Given the description of an element on the screen output the (x, y) to click on. 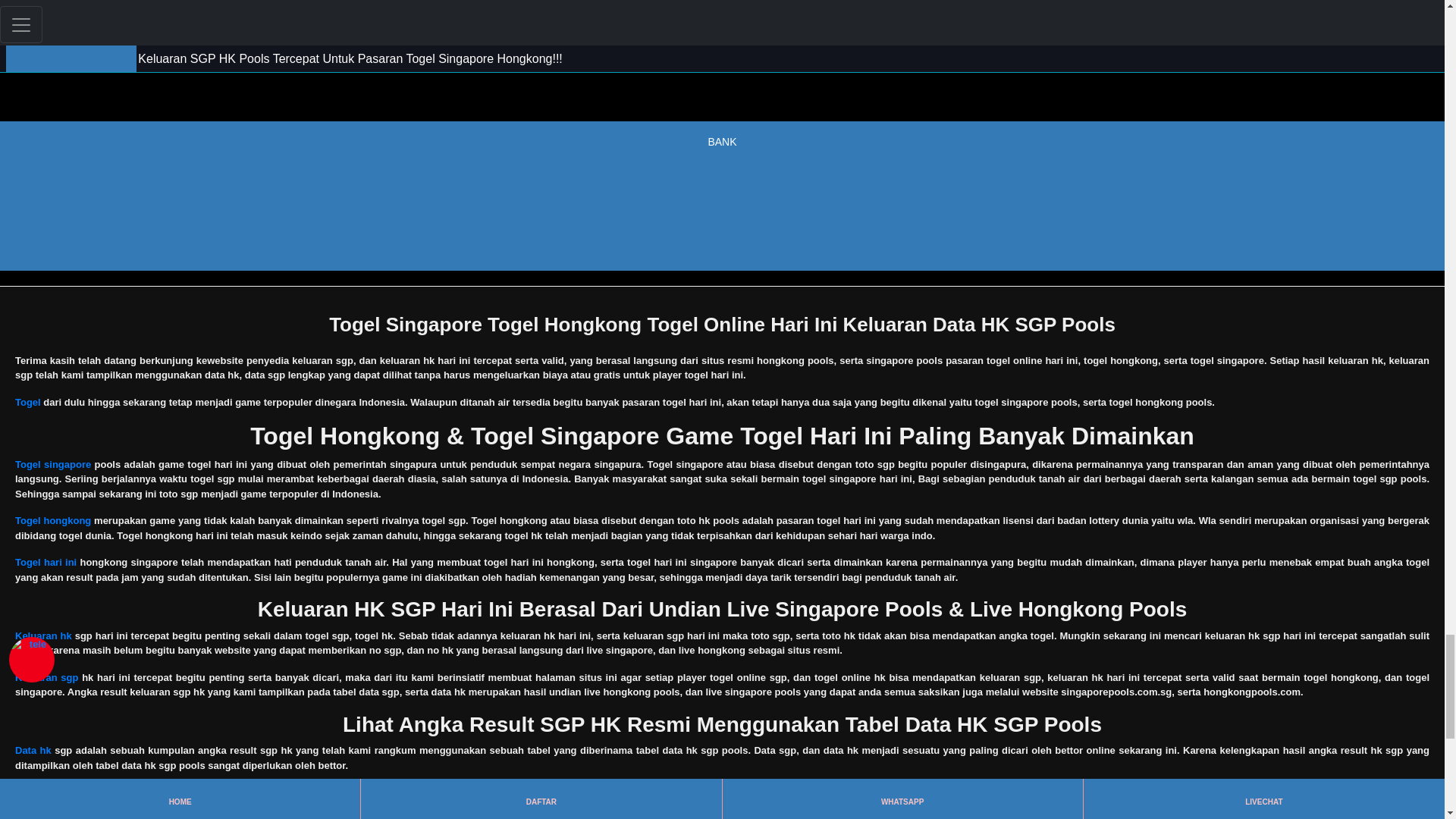
Togel hari ini (45, 562)
Data hk (32, 749)
Togel singapore (52, 464)
Keluaran sgp (46, 677)
Data sgp (35, 791)
Togel hongkong (52, 520)
Togel (27, 401)
Keluaran hk (42, 635)
